Given the description of an element on the screen output the (x, y) to click on. 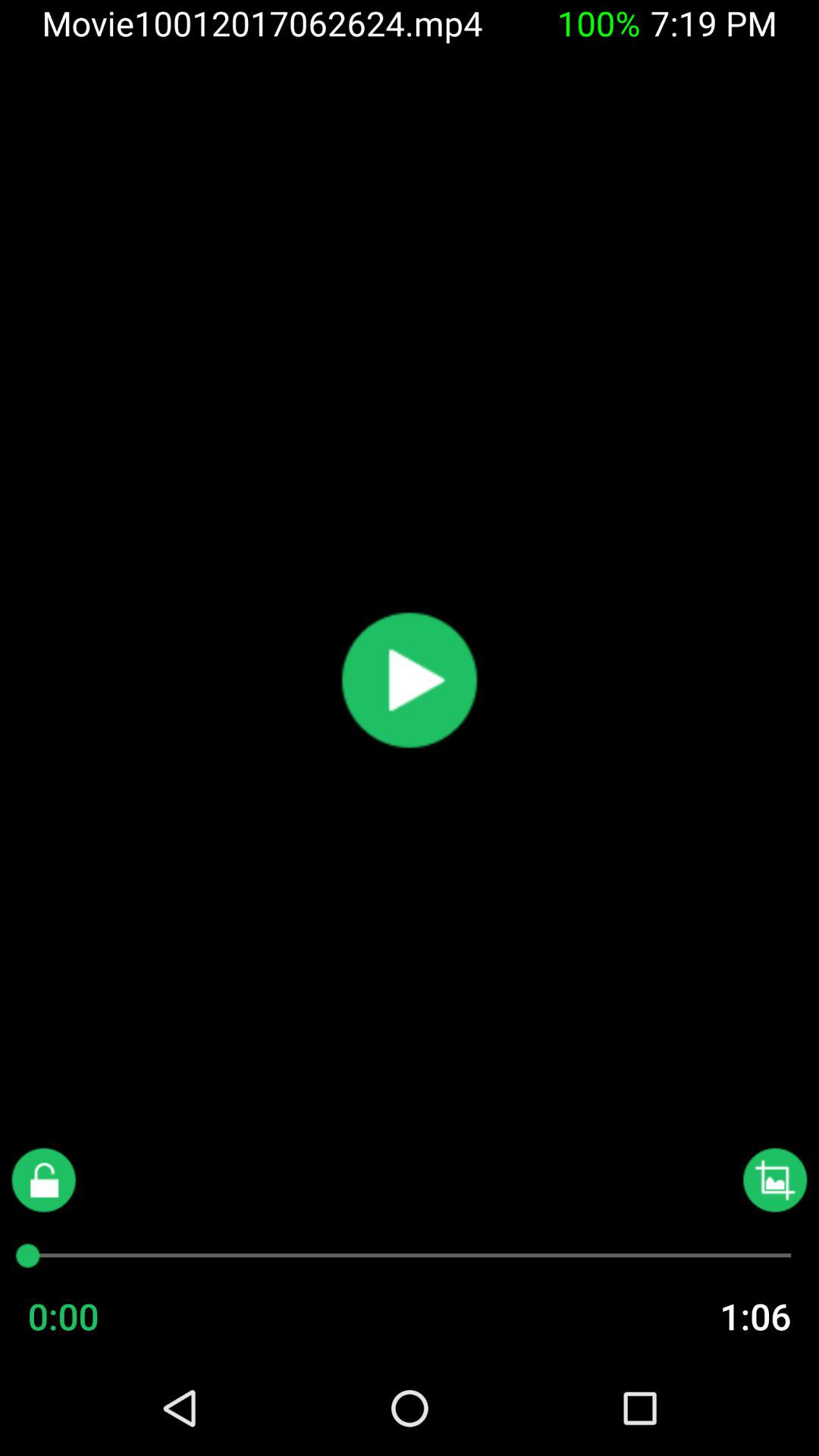
click 1:06 item (725, 1315)
